Given the description of an element on the screen output the (x, y) to click on. 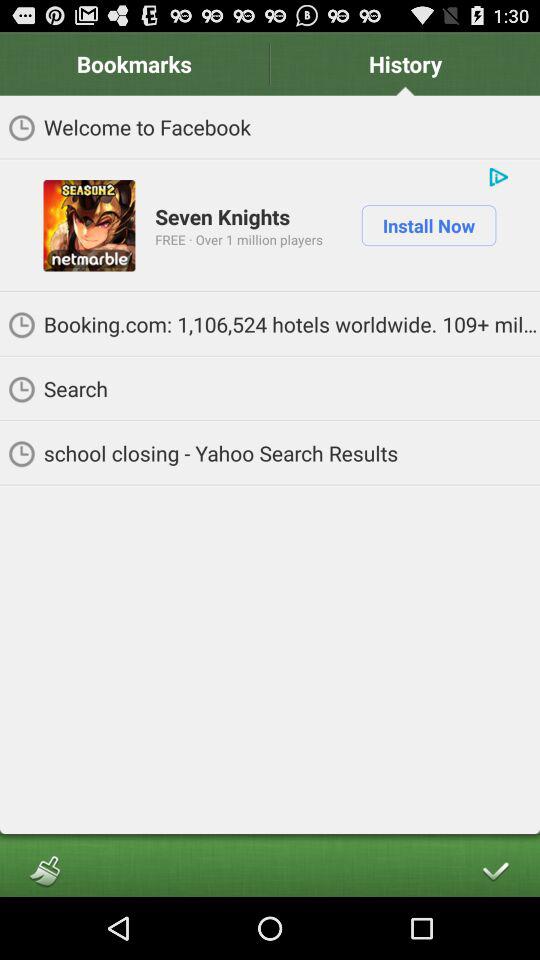
launch icon next to seven knights icon (89, 225)
